Given the description of an element on the screen output the (x, y) to click on. 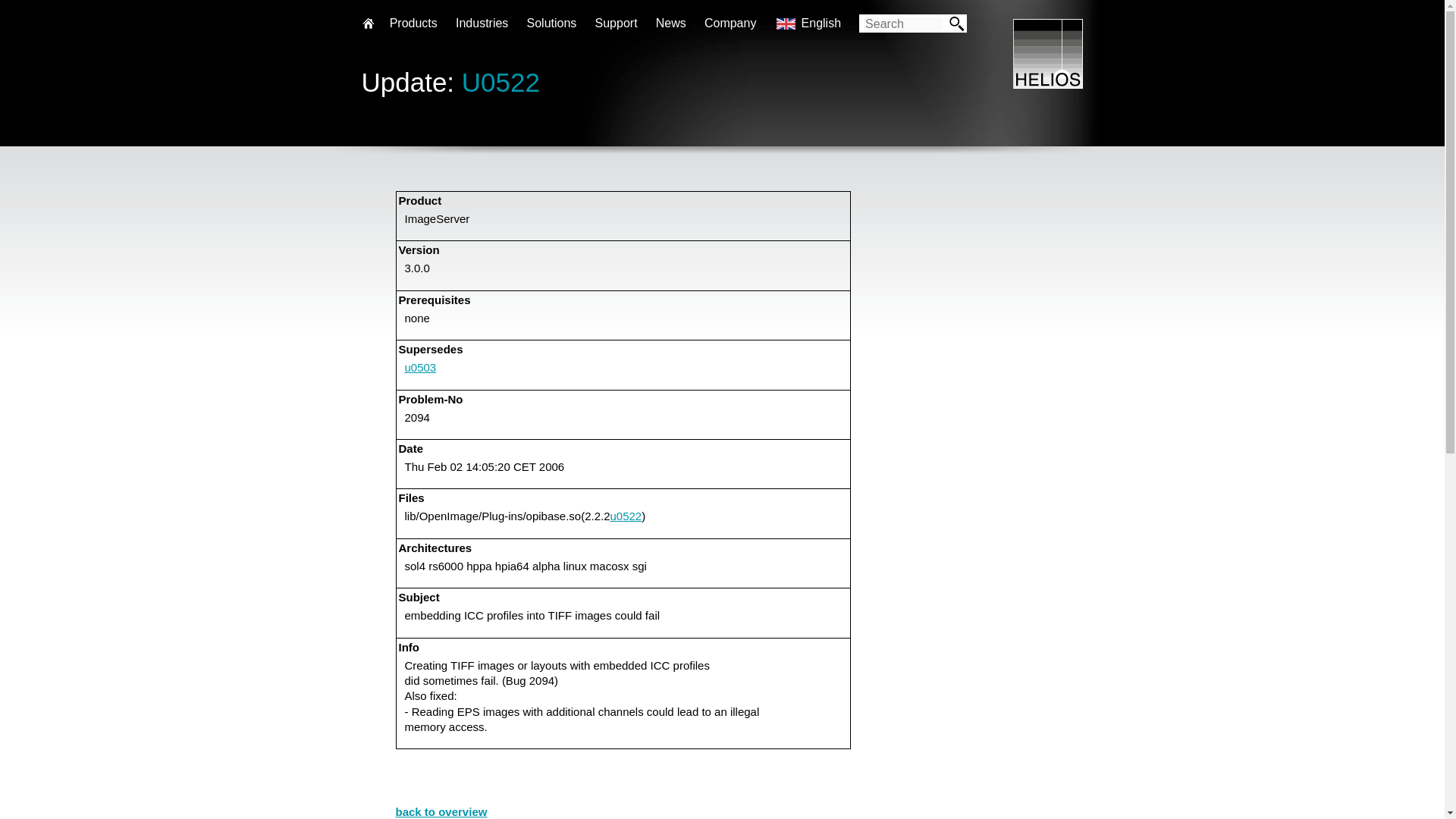
back to overview (441, 811)
u0522 (626, 515)
Back to homepage (1048, 83)
U0522 (500, 81)
u0503 (420, 367)
